Given the description of an element on the screen output the (x, y) to click on. 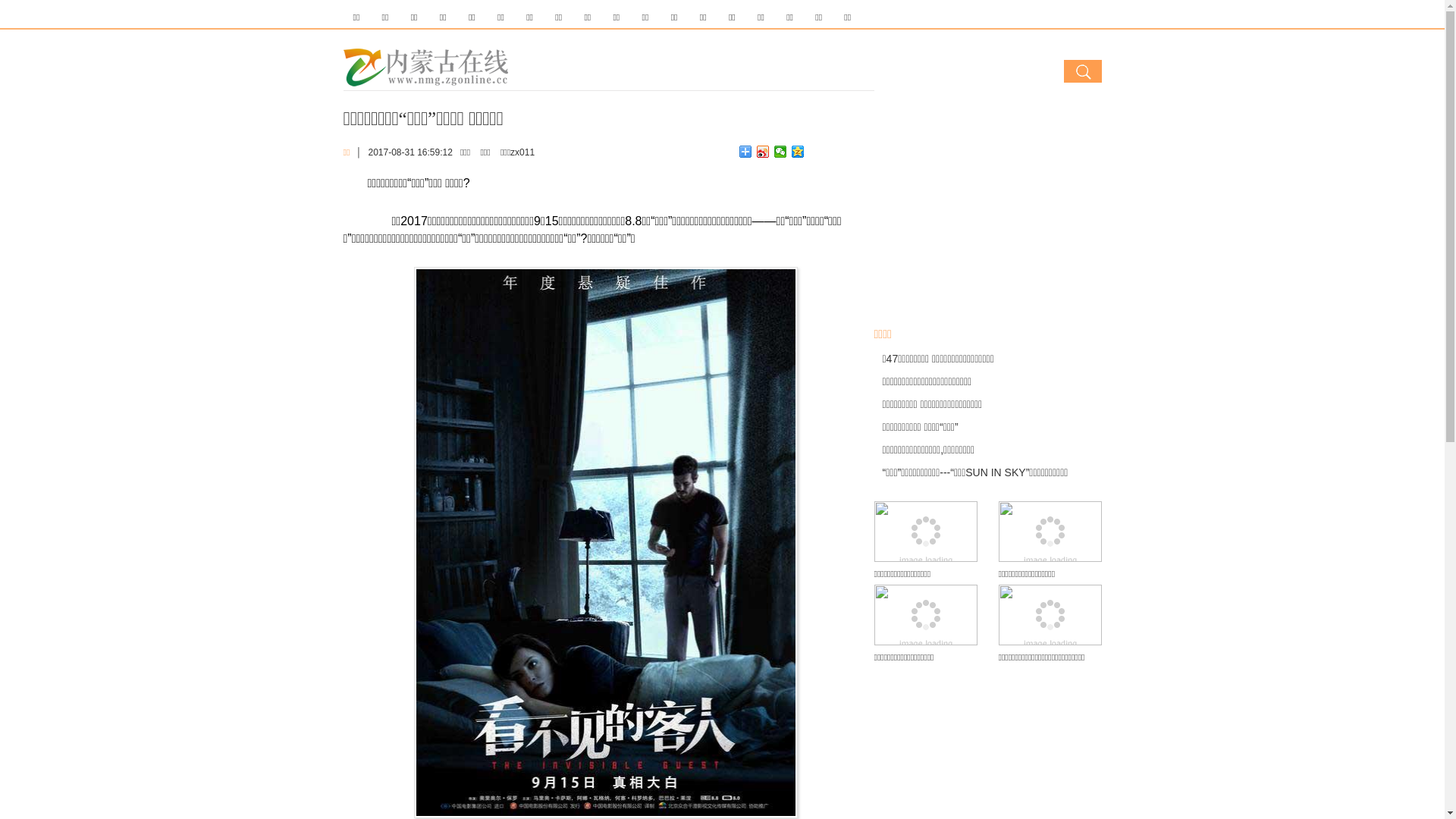
Advertisement Element type: hover (987, 207)
